Given the description of an element on the screen output the (x, y) to click on. 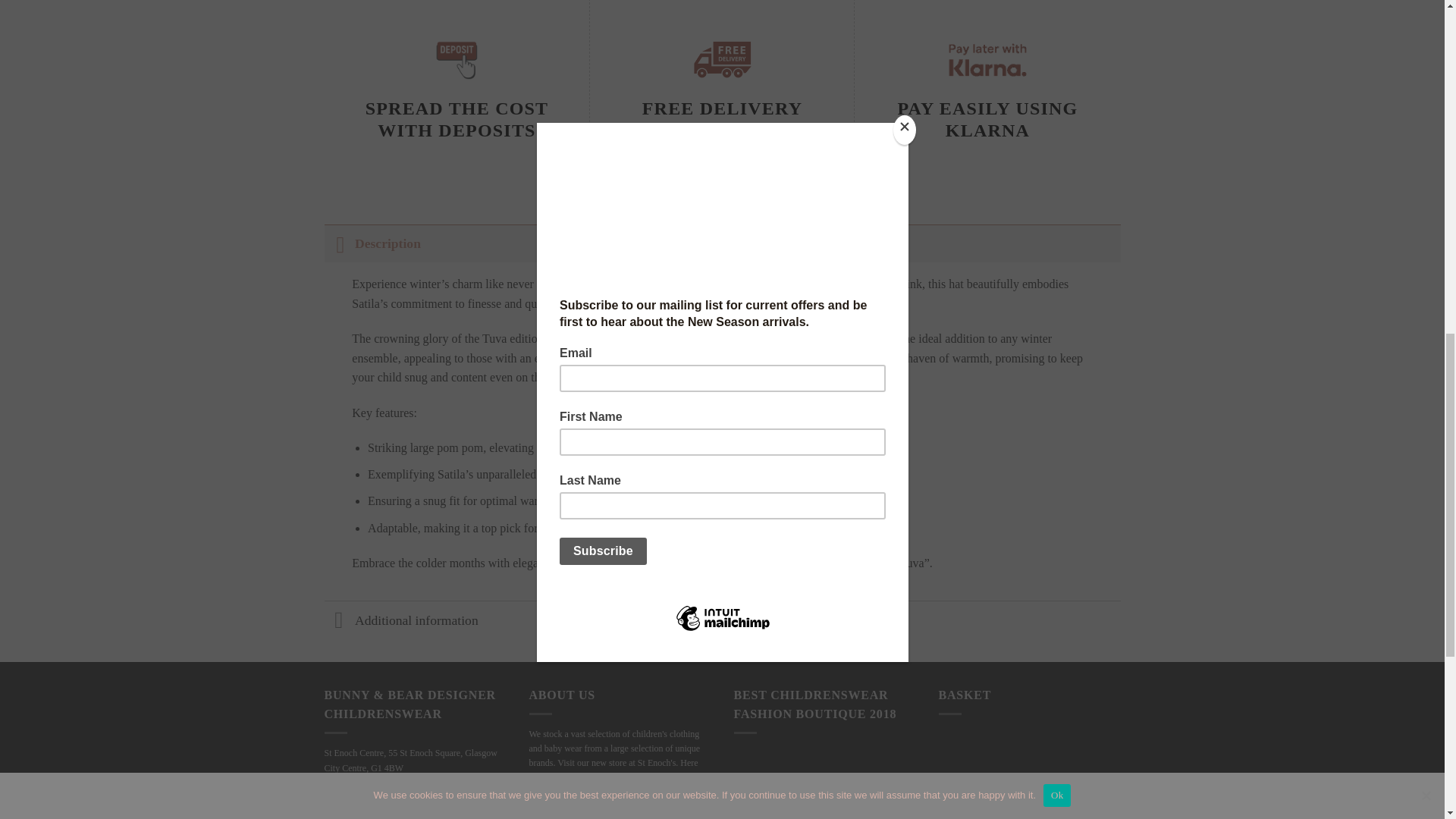
Follow on Instagram (569, 815)
Follow on Twitter (597, 815)
Follow on Facebook (541, 815)
Send us an email (624, 815)
